Given the description of an element on the screen output the (x, y) to click on. 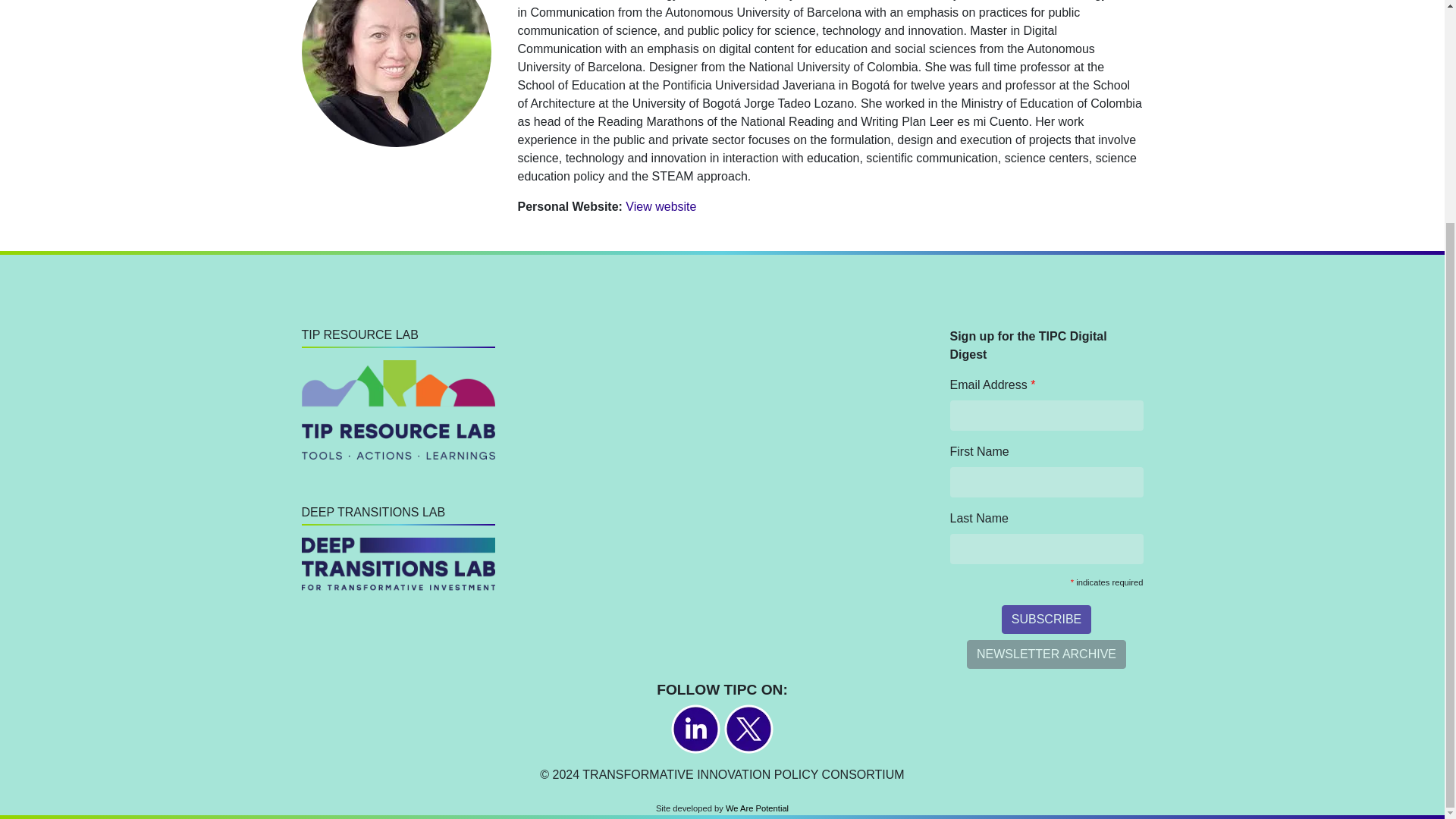
We Are Potential (757, 808)
NEWSLETTER ARCHIVE (1045, 654)
Subscribe (1045, 619)
View website (660, 205)
Subscribe (1045, 619)
NEWSLETTER ARCHIVE (1046, 653)
